Given the description of an element on the screen output the (x, y) to click on. 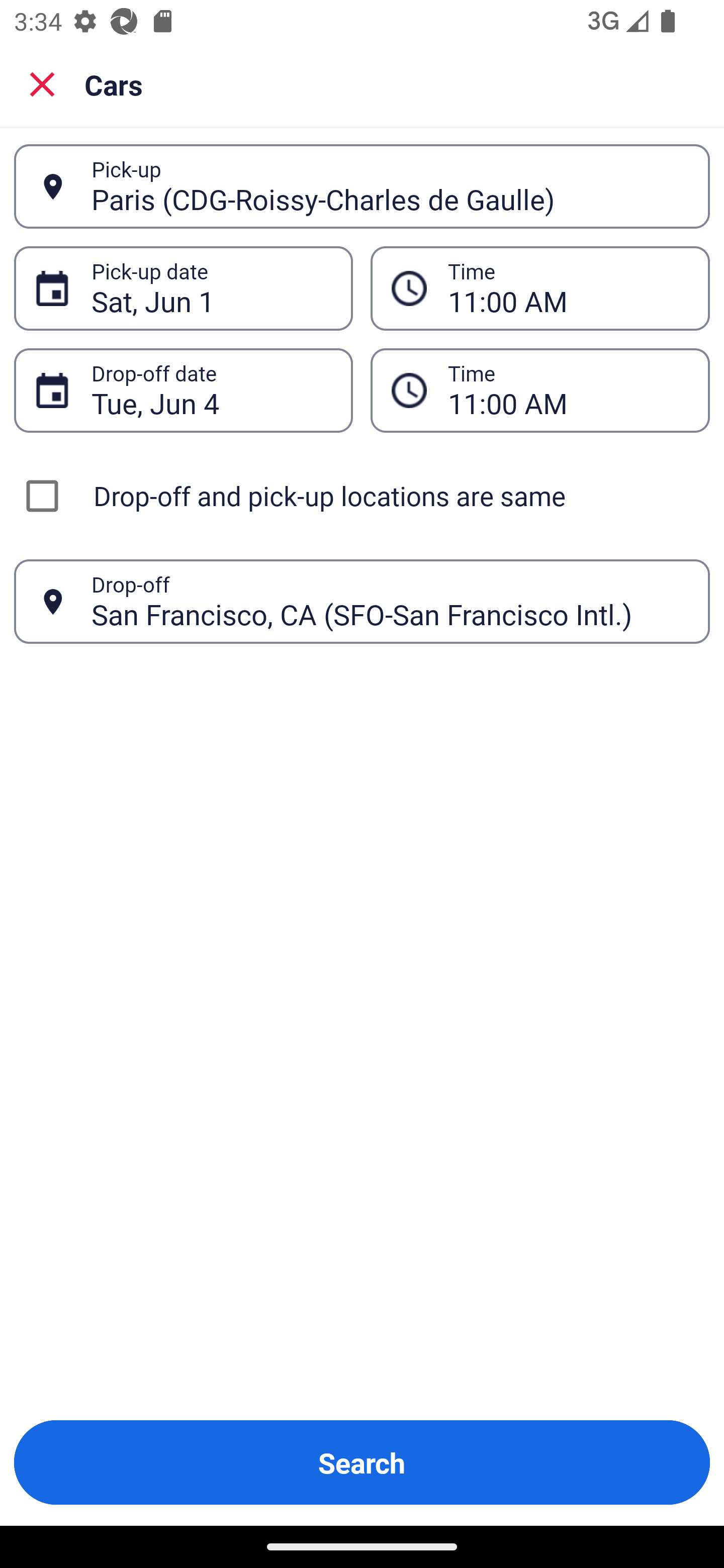
Close search screen (41, 83)
Paris (CDG-Roissy-Charles de Gaulle) Pick-up (361, 186)
Paris (CDG-Roissy-Charles de Gaulle) (389, 186)
Sat, Jun 1 Pick-up date (183, 288)
11:00 AM (540, 288)
Sat, Jun 1 (211, 288)
11:00 AM (568, 288)
Tue, Jun 4 Drop-off date (183, 390)
11:00 AM (540, 390)
Tue, Jun 4 (211, 390)
11:00 AM (568, 390)
Drop-off and pick-up locations are same (361, 495)
San Francisco, CA (SFO-San Francisco Intl.) (389, 601)
Search Button Search (361, 1462)
